Given the description of an element on the screen output the (x, y) to click on. 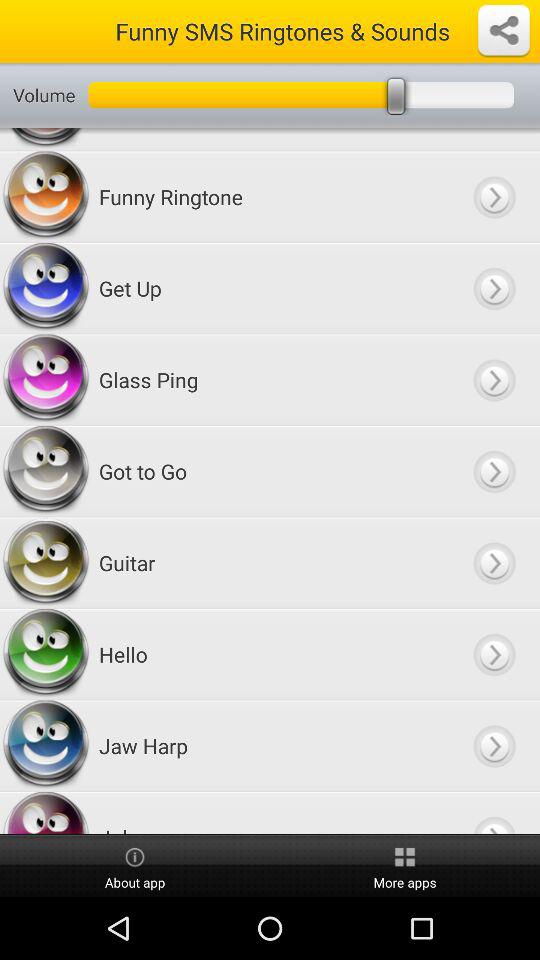
select funny ringtone (494, 196)
